Given the description of an element on the screen output the (x, y) to click on. 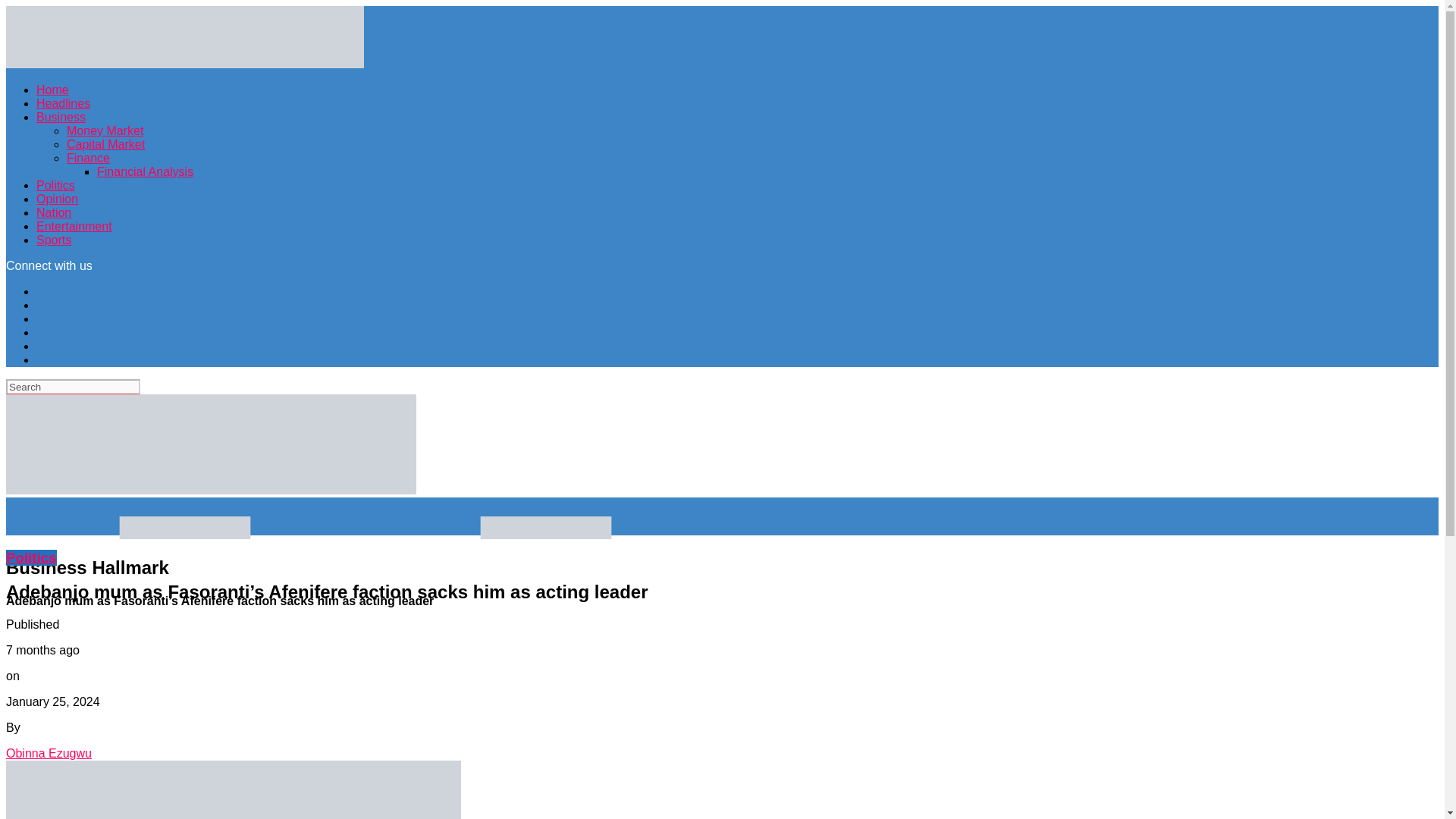
Business (60, 116)
Money Market (104, 130)
Financial Analysis (145, 171)
Politics (55, 185)
Nation (53, 212)
Search (72, 386)
Headlines (63, 103)
Capital Market (105, 144)
Finance (88, 157)
Home (52, 89)
